Given the description of an element on the screen output the (x, y) to click on. 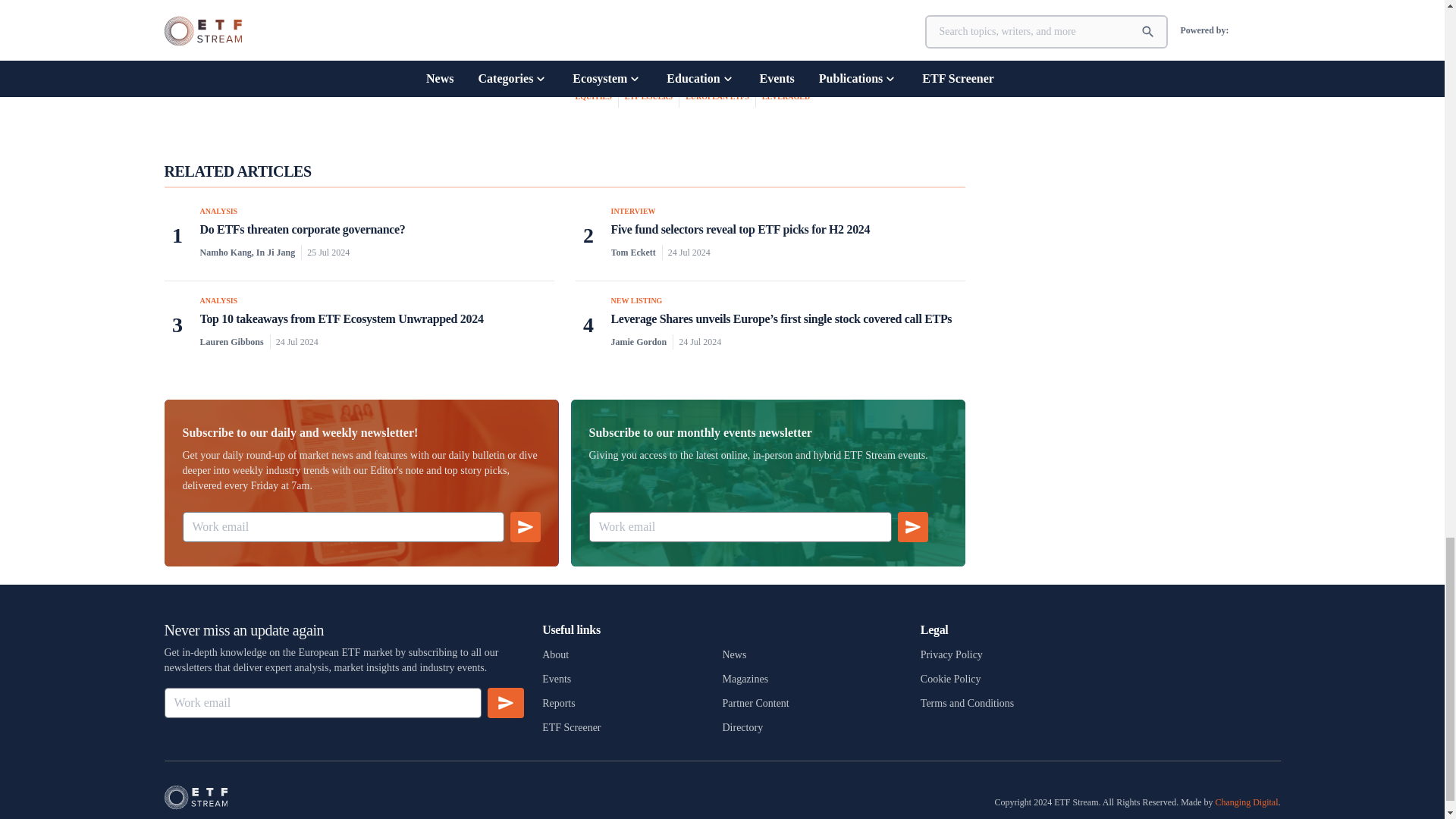
EUROPEAN ETFS (720, 96)
EQUITIES (596, 96)
LEVERAGED (785, 96)
ETF ISSUERS (651, 96)
MATTHEW TUTTLE (229, 2)
TELMO RUEDA (301, 2)
